Given the description of an element on the screen output the (x, y) to click on. 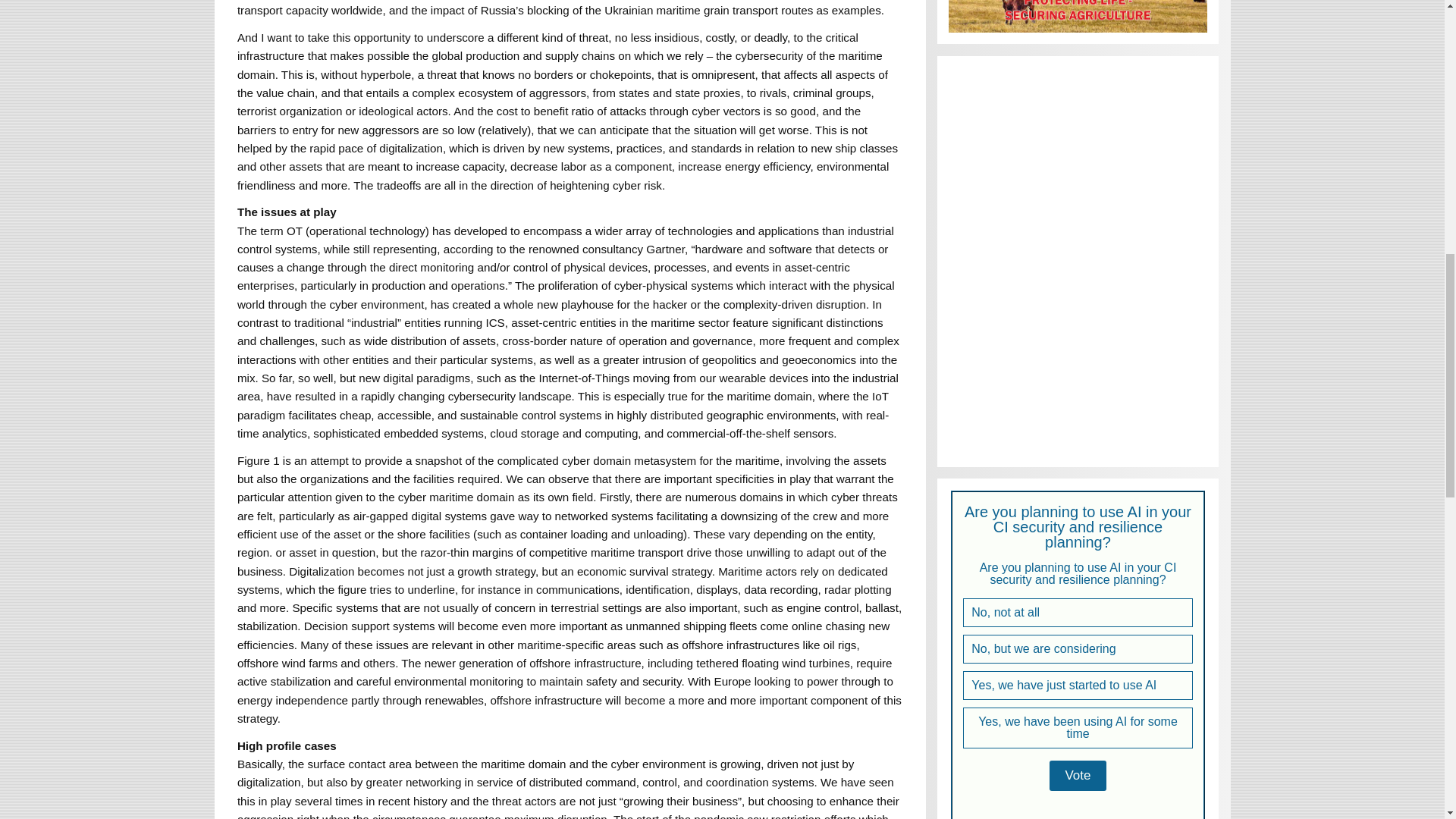
Vote (1077, 775)
